Given the description of an element on the screen output the (x, y) to click on. 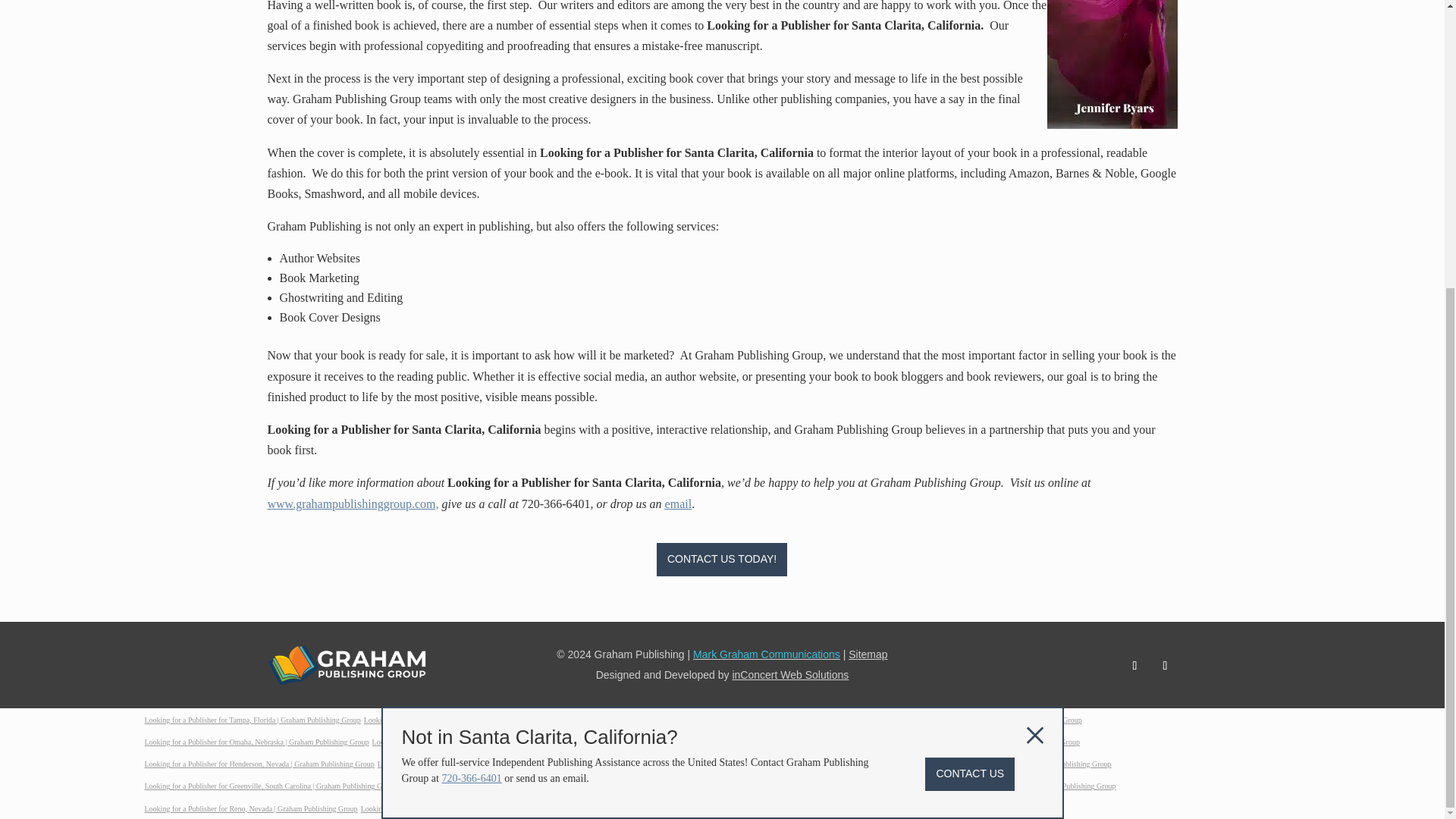
Follow on LinkedIn (1134, 665)
Follow on X (1164, 665)
